Given the description of an element on the screen output the (x, y) to click on. 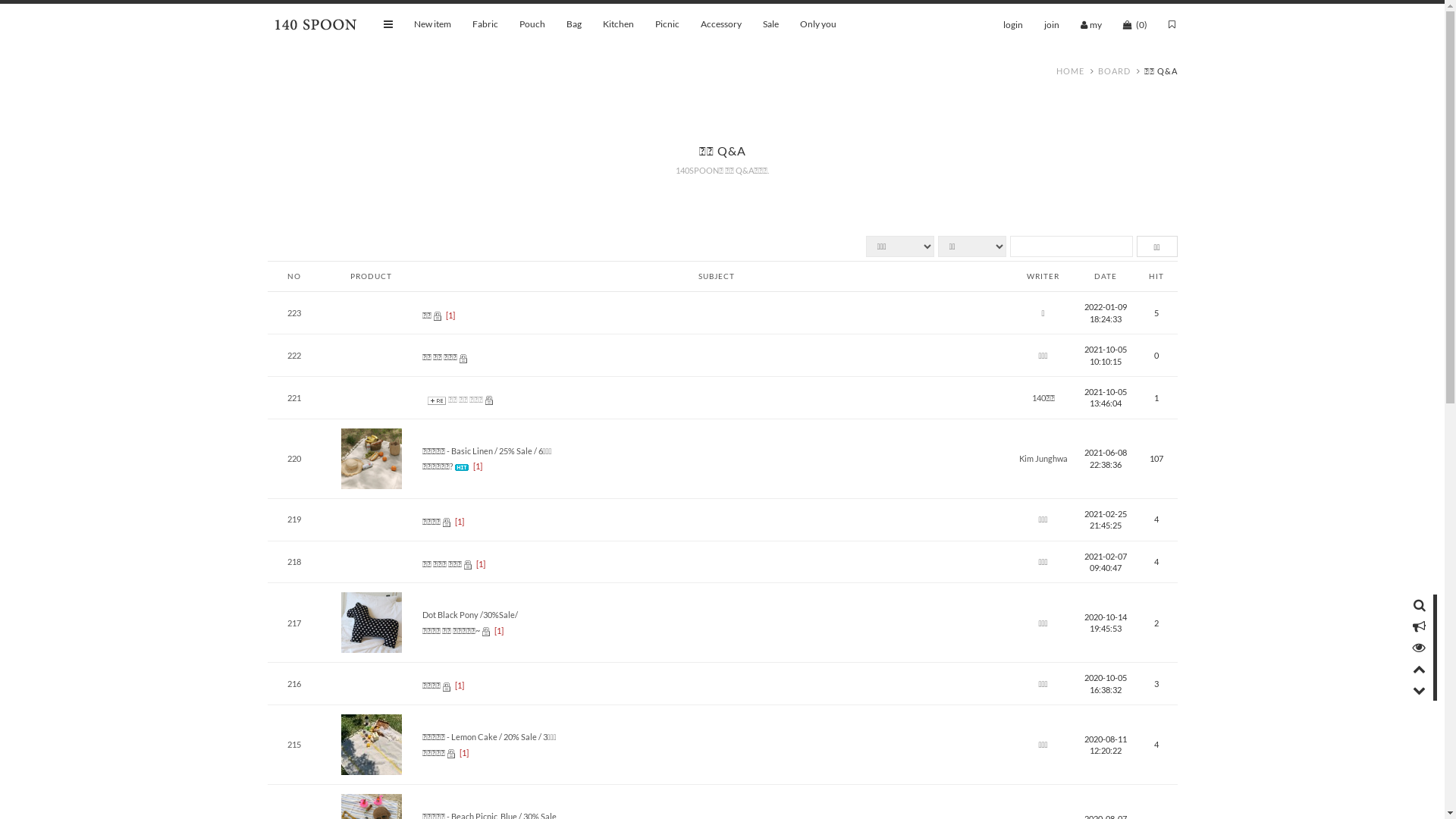
Only you Element type: text (817, 24)
Bag Element type: text (572, 24)
Pouch Element type: text (531, 24)
HOME Element type: text (1069, 70)
login Element type: text (1012, 23)
BOARD Element type: text (1114, 70)
Accessory Element type: text (720, 24)
Picnic Element type: text (667, 24)
(0) Element type: text (1134, 23)
Sale Element type: text (770, 24)
Fabric Element type: text (484, 24)
my Element type: text (1090, 23)
New item Element type: text (432, 24)
Kitchen Element type: text (617, 24)
join Element type: text (1050, 23)
